Given the description of an element on the screen output the (x, y) to click on. 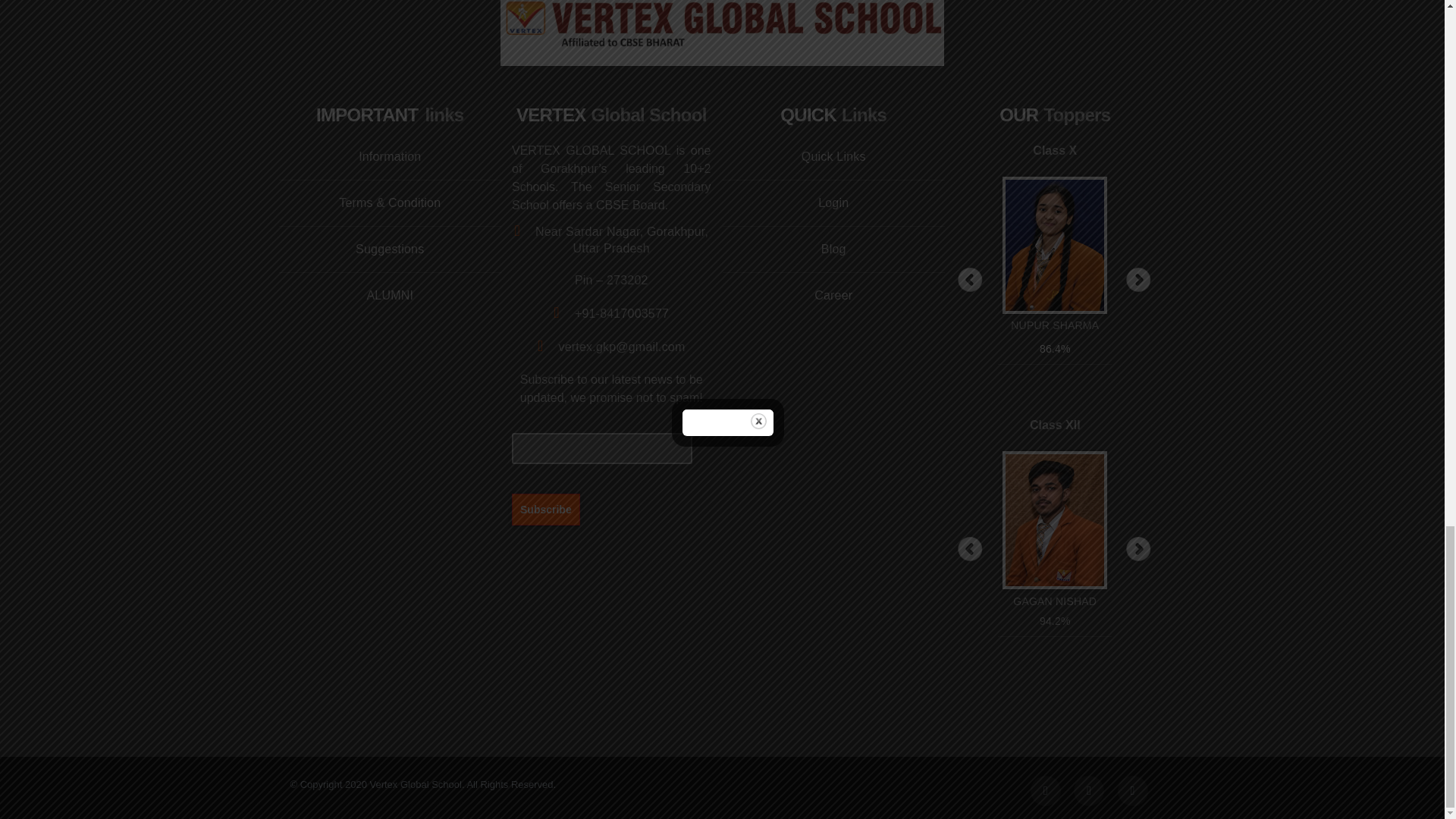
Subscribe (545, 508)
